Given the description of an element on the screen output the (x, y) to click on. 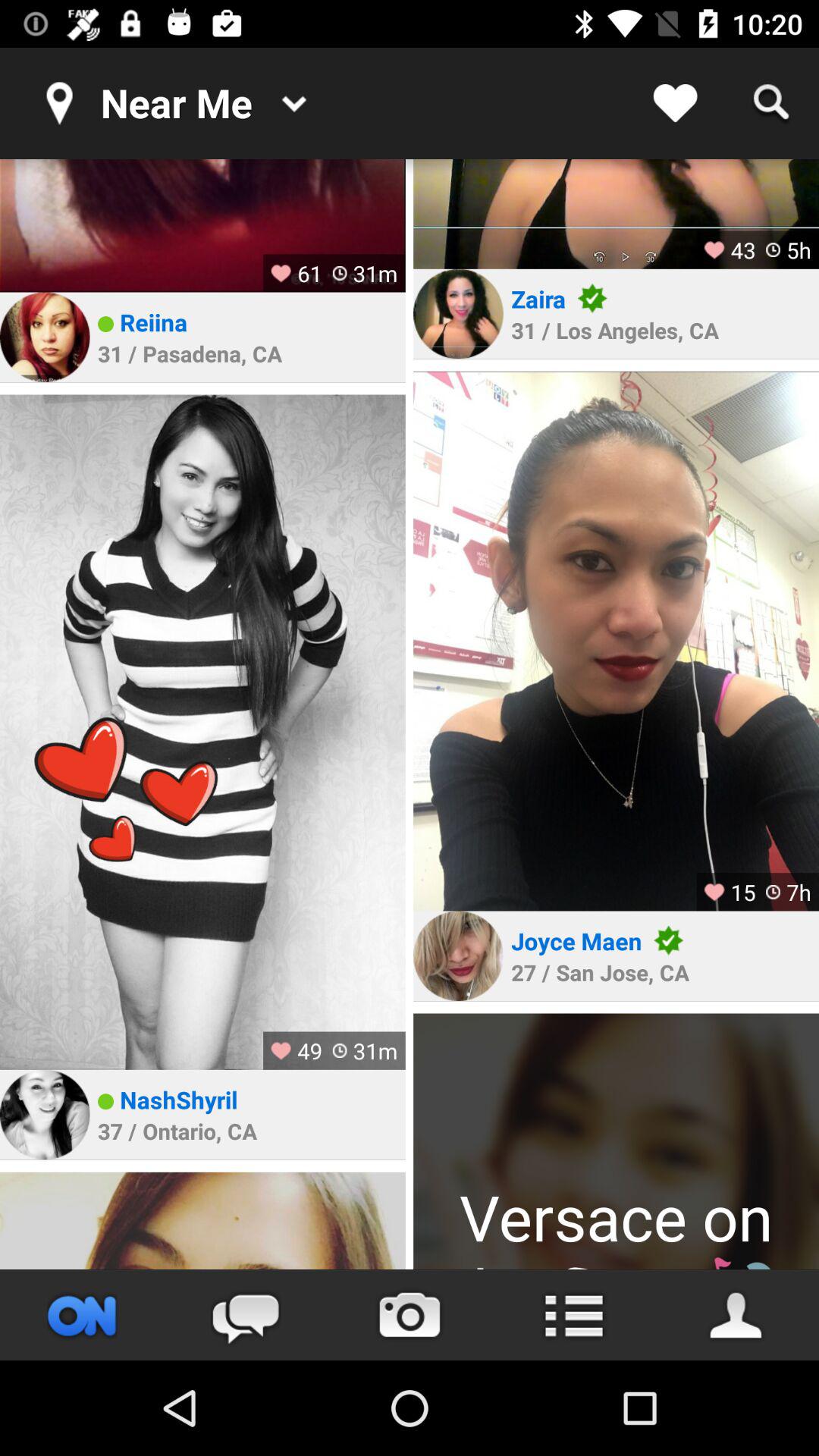
profile image select (202, 225)
